Given the description of an element on the screen output the (x, y) to click on. 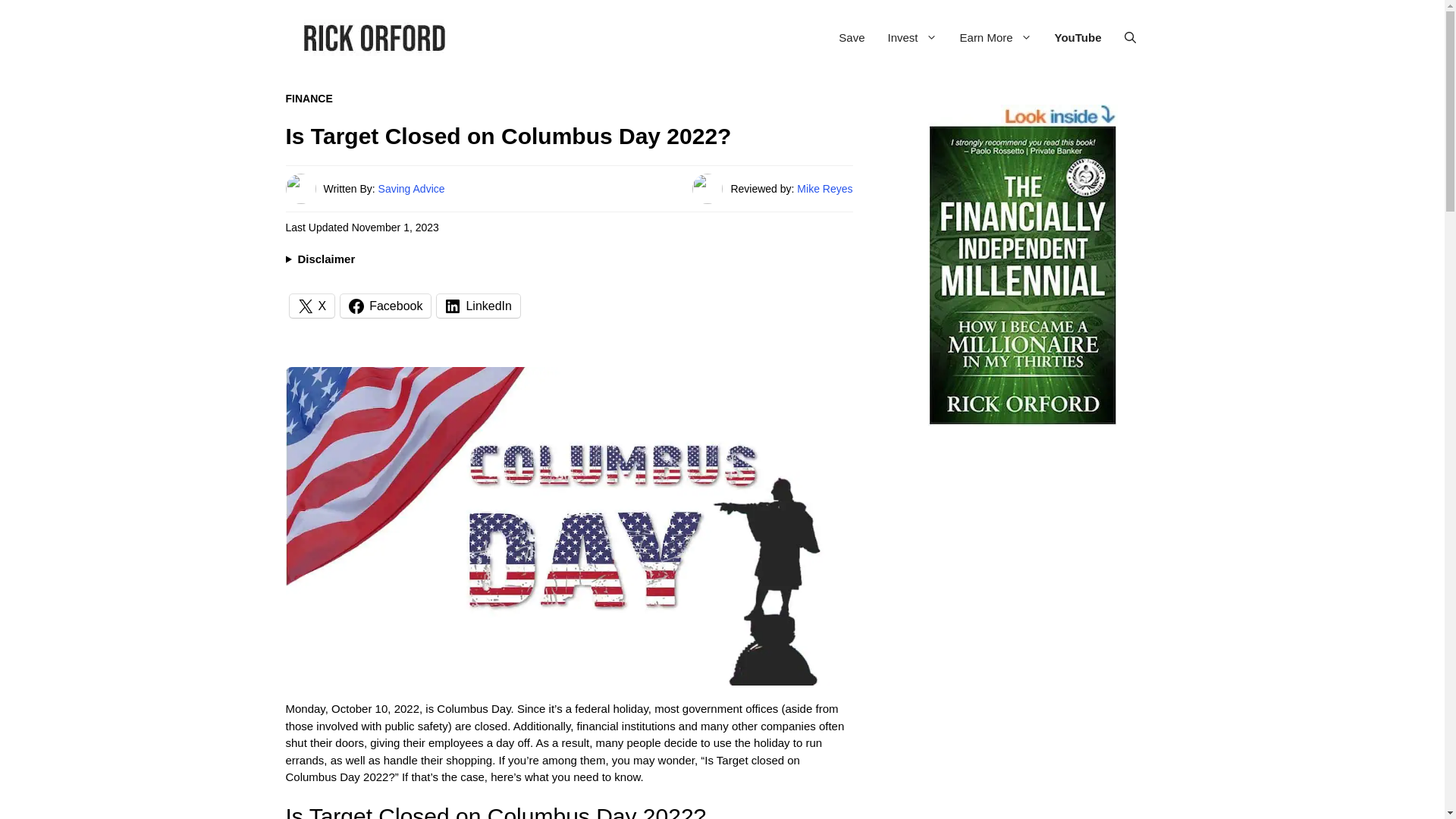
X (311, 305)
Earn More (996, 37)
Facebook (385, 305)
YouTube (1078, 37)
Saving Advice (411, 188)
Mike Reyes (823, 188)
Invest (912, 37)
LinkedIn (477, 305)
FINANCE (308, 98)
Save (851, 37)
